Given the description of an element on the screen output the (x, y) to click on. 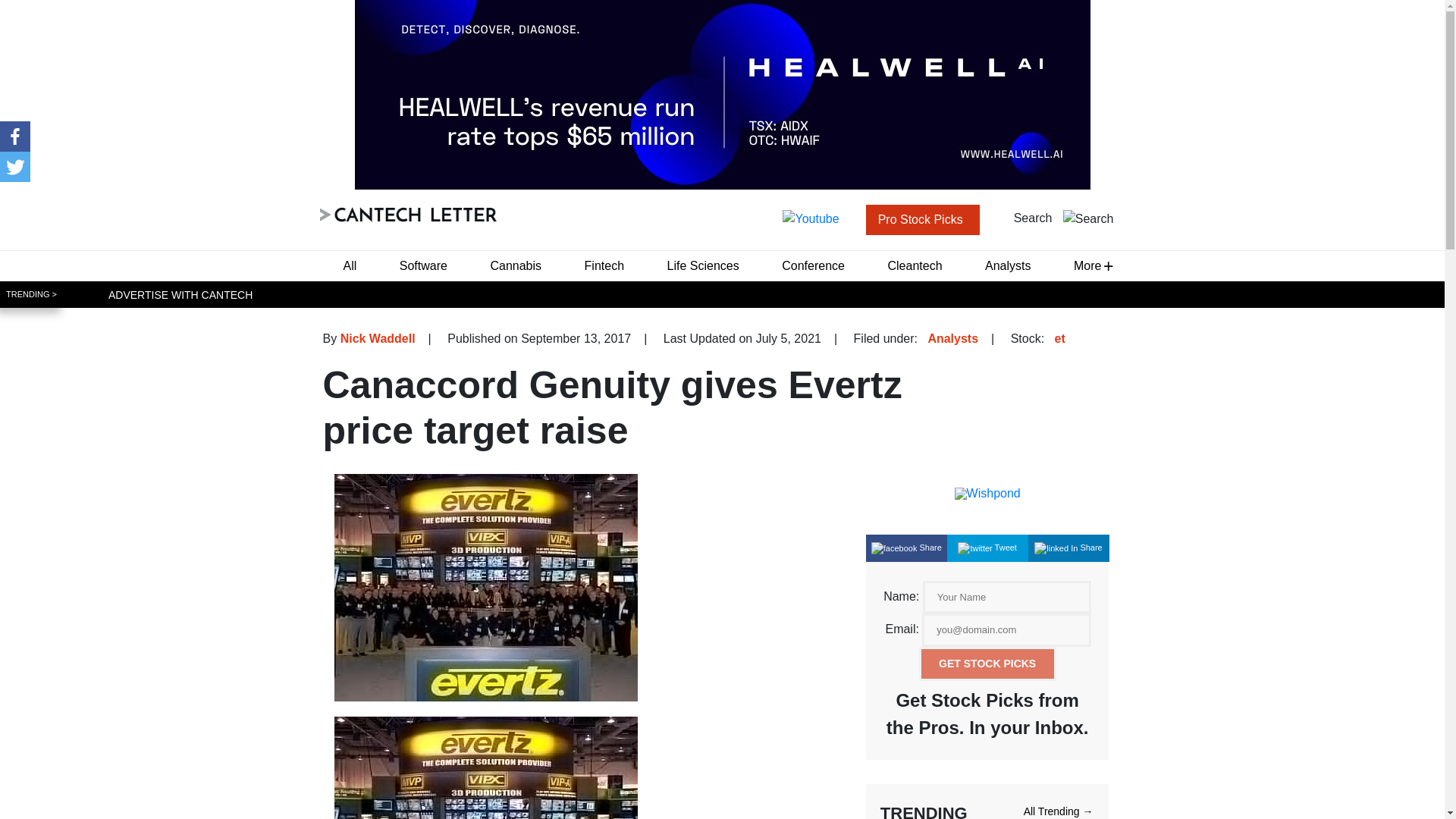
More (1087, 265)
GET STOCK PICKS (987, 663)
Facebook (15, 136)
Cleantech (914, 265)
Conference (813, 265)
ADVERTISE WITH CANTECH (180, 294)
Search (1064, 218)
Nick Waddell (377, 338)
Twitter (15, 166)
Analysts (952, 338)
